Given the description of an element on the screen output the (x, y) to click on. 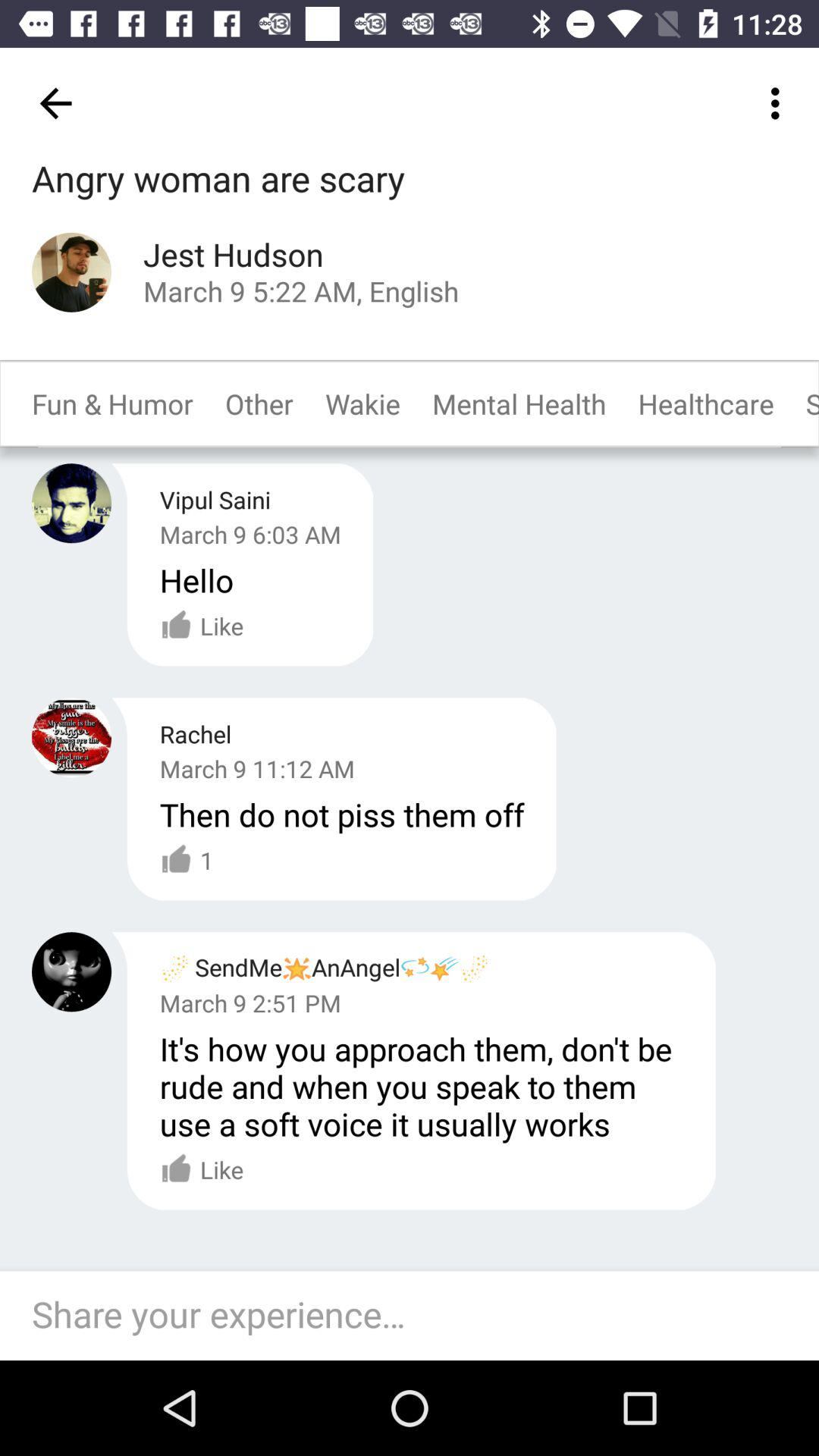
open comment box (417, 1315)
